Given the description of an element on the screen output the (x, y) to click on. 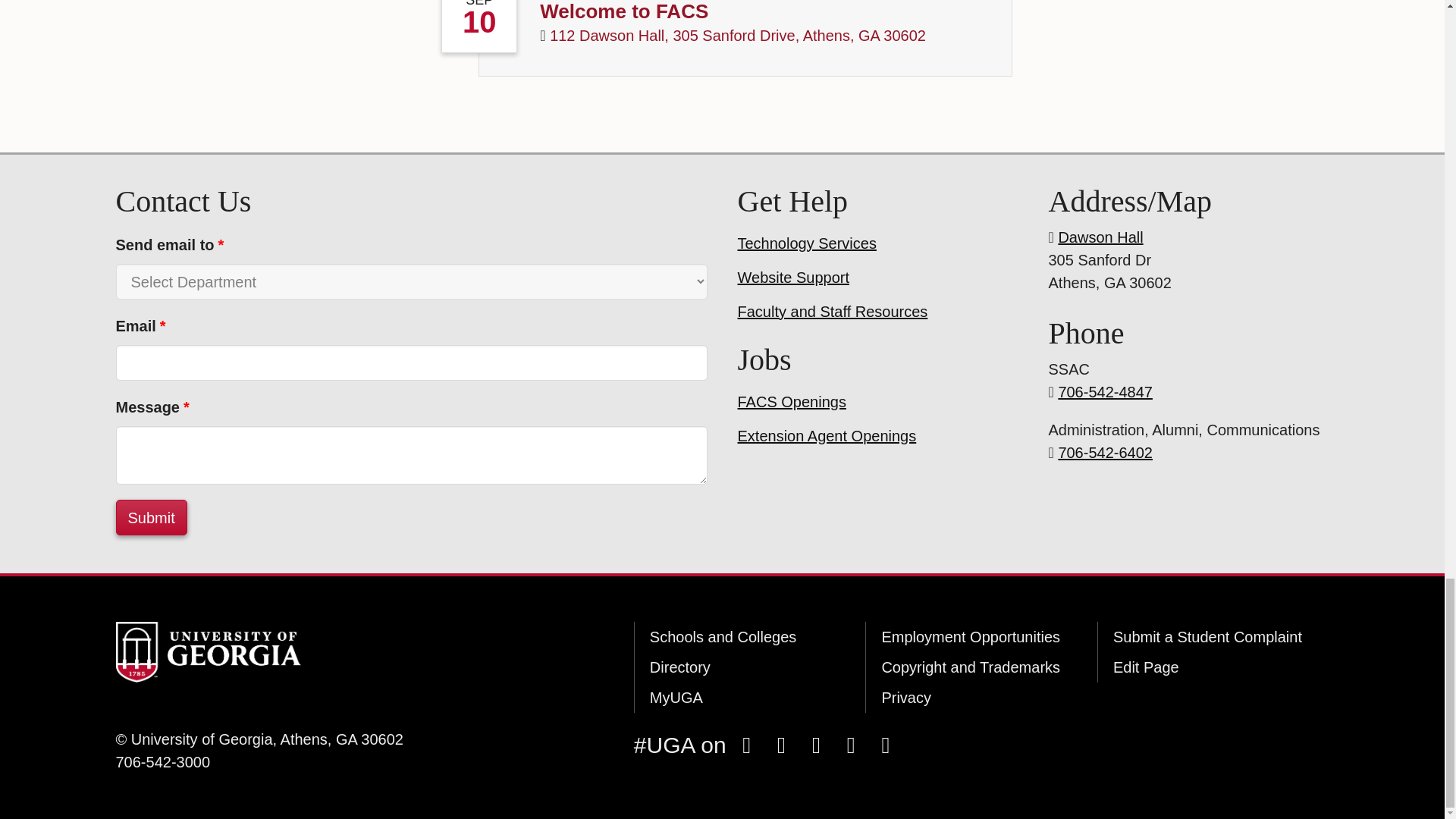
112 Dawson Hall, 305 Sanford Drive, Athens, GA 30602 (738, 35)
LinkedIn (884, 744)
Instagram (781, 744)
YouTube (849, 744)
Facebook (746, 744)
Welcome to FACS (623, 11)
Snapchat (816, 744)
